Given the description of an element on the screen output the (x, y) to click on. 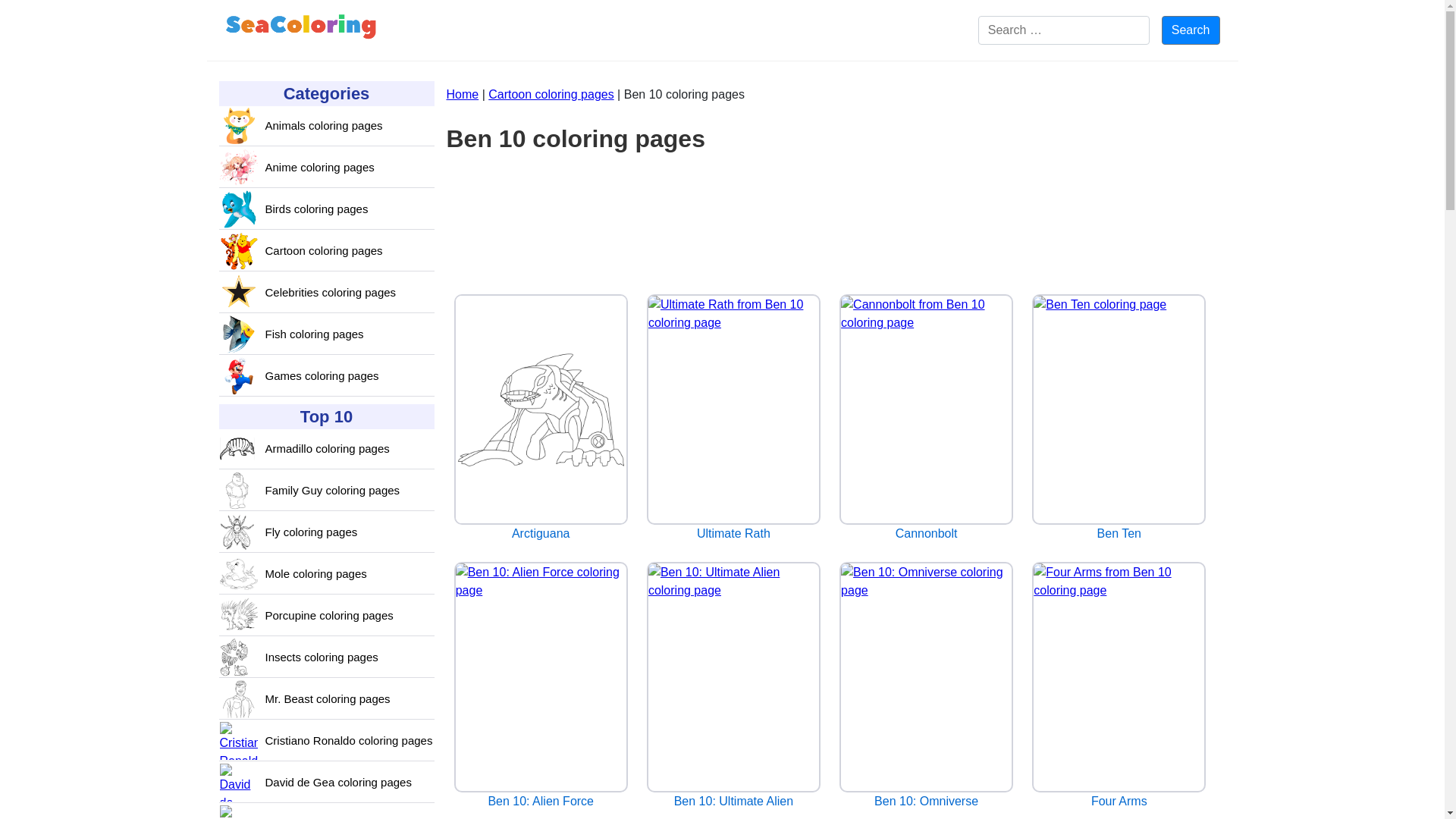
Mole coloring pages (315, 574)
Family Guy coloring pages (332, 490)
Cartoon coloring pages (323, 251)
Fish coloring pages (314, 334)
Free Coloring pages for Kids (301, 29)
David de Gea coloring pages (338, 782)
Cartoon coloring pages (549, 93)
Mr. Beast coloring pages (327, 699)
Search (1190, 30)
Fly coloring pages (311, 532)
